Given the description of an element on the screen output the (x, y) to click on. 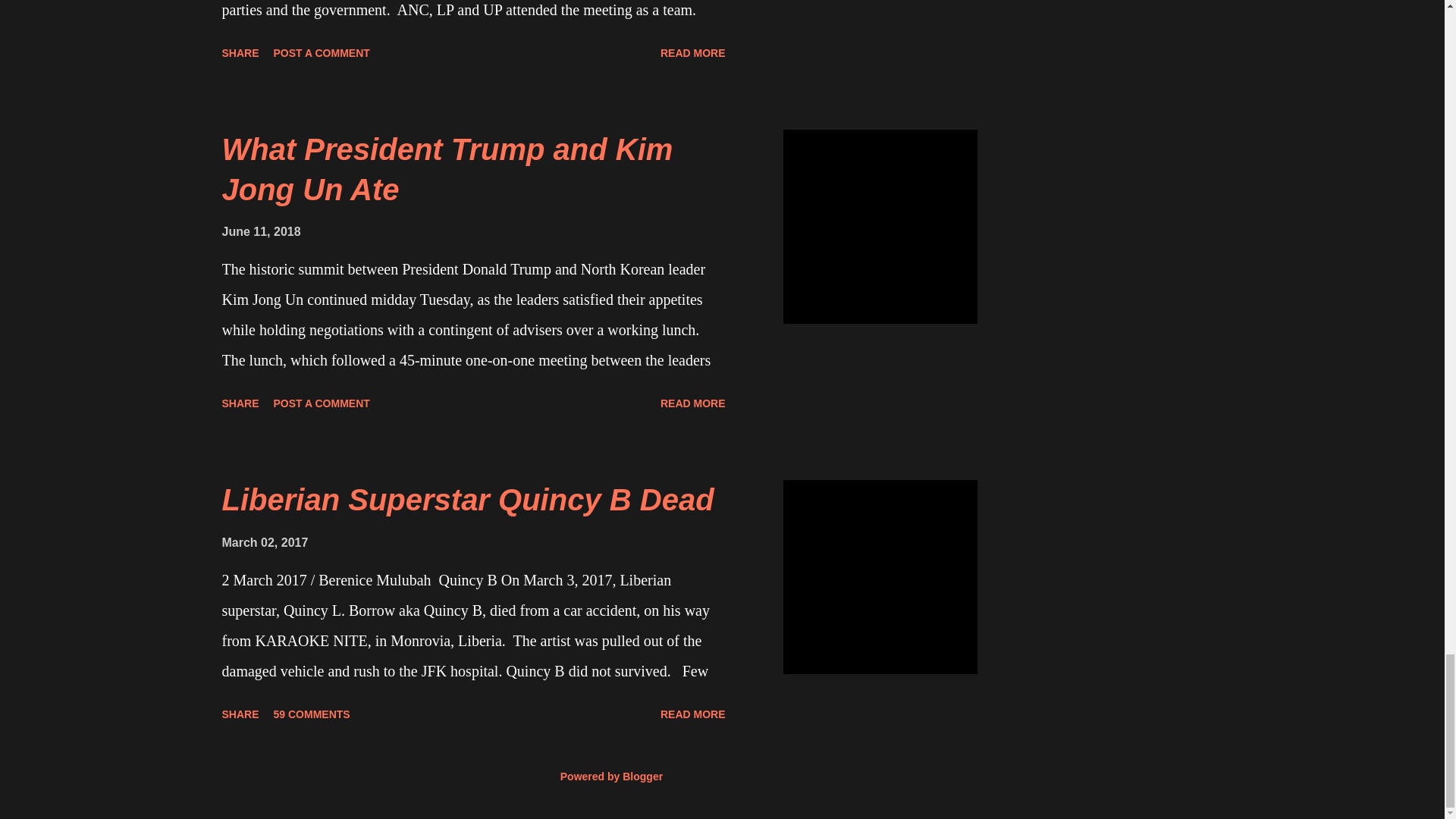
SHARE (239, 713)
Liberian Superstar Quincy B Dead (467, 499)
READ MORE (692, 52)
READ MORE (692, 403)
59 COMMENTS (311, 713)
POST A COMMENT (321, 403)
June 11, 2018 (260, 231)
POST A COMMENT (321, 52)
What President Trump and Kim Jong Un Ate (446, 169)
SHARE (239, 52)
SHARE (239, 403)
March 02, 2017 (264, 542)
